Given the description of an element on the screen output the (x, y) to click on. 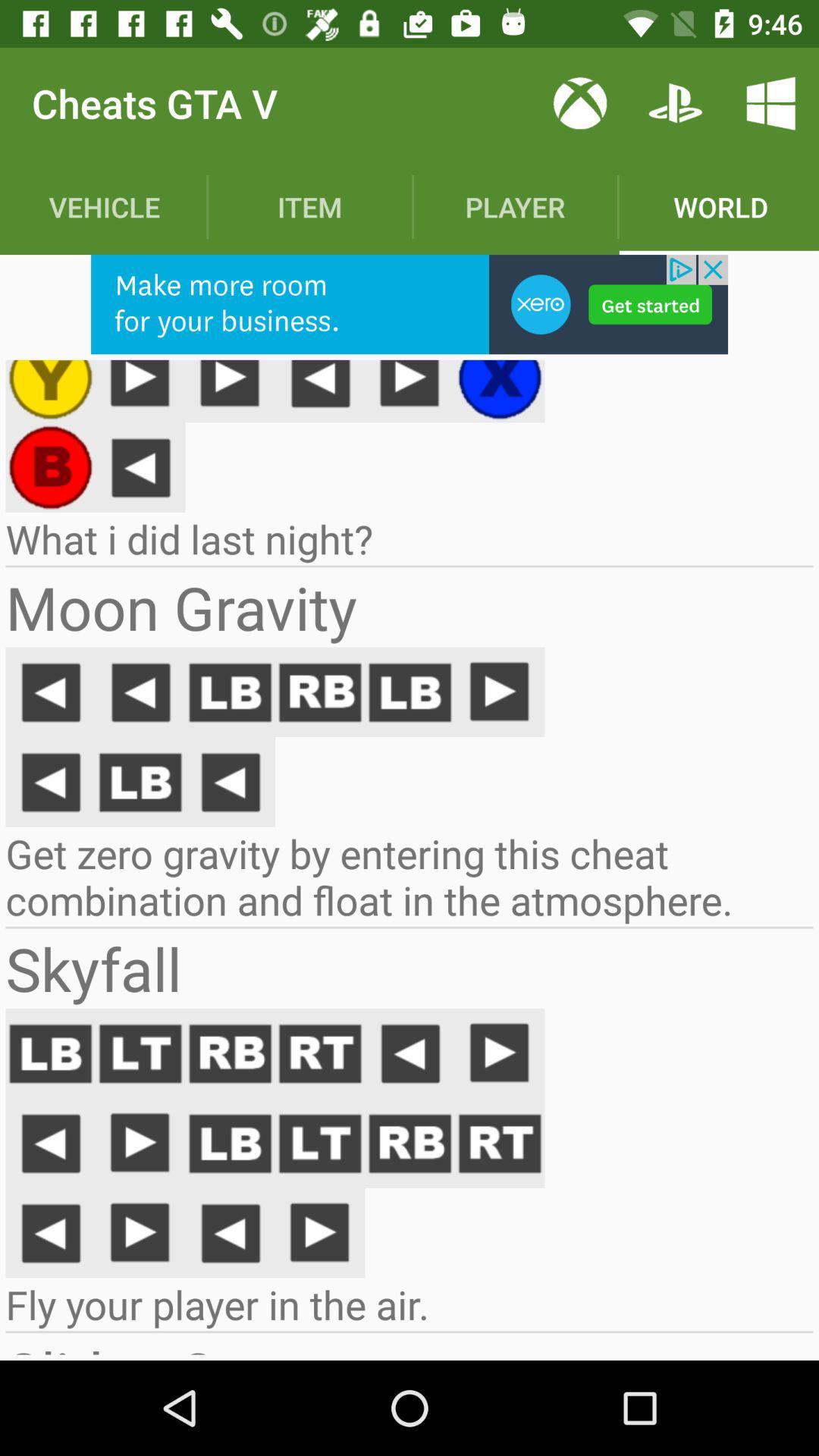
advertising link (409, 304)
